Given the description of an element on the screen output the (x, y) to click on. 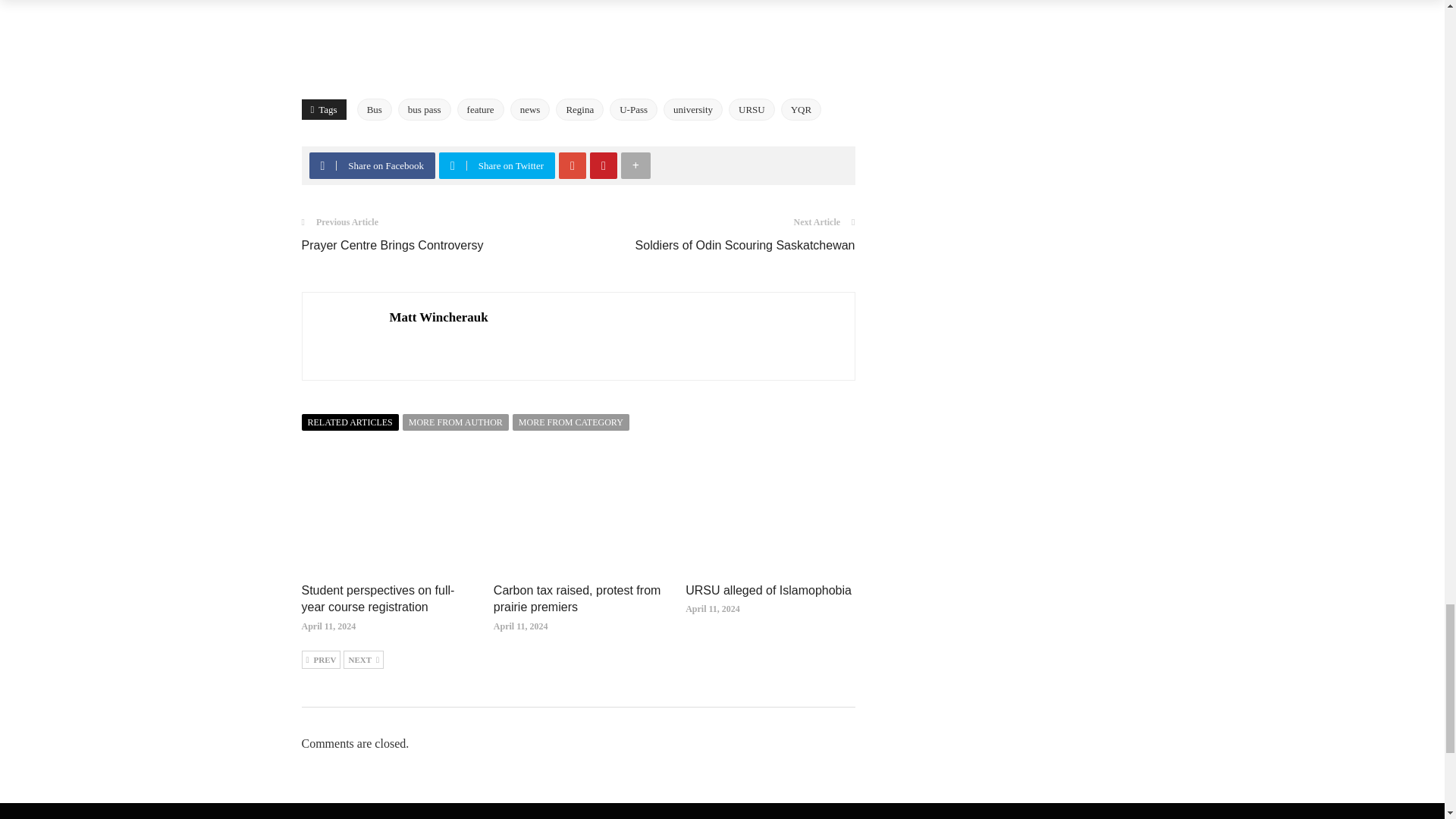
View all posts tagged bus pass (424, 109)
View all posts tagged Regina (580, 109)
View all posts tagged university (692, 109)
View all posts tagged URSU (751, 109)
View all posts tagged feature (480, 109)
View all posts tagged news (530, 109)
View all posts tagged Bus (373, 109)
View all posts tagged U-Pass (634, 109)
View all posts tagged YQR (800, 109)
